Given the description of an element on the screen output the (x, y) to click on. 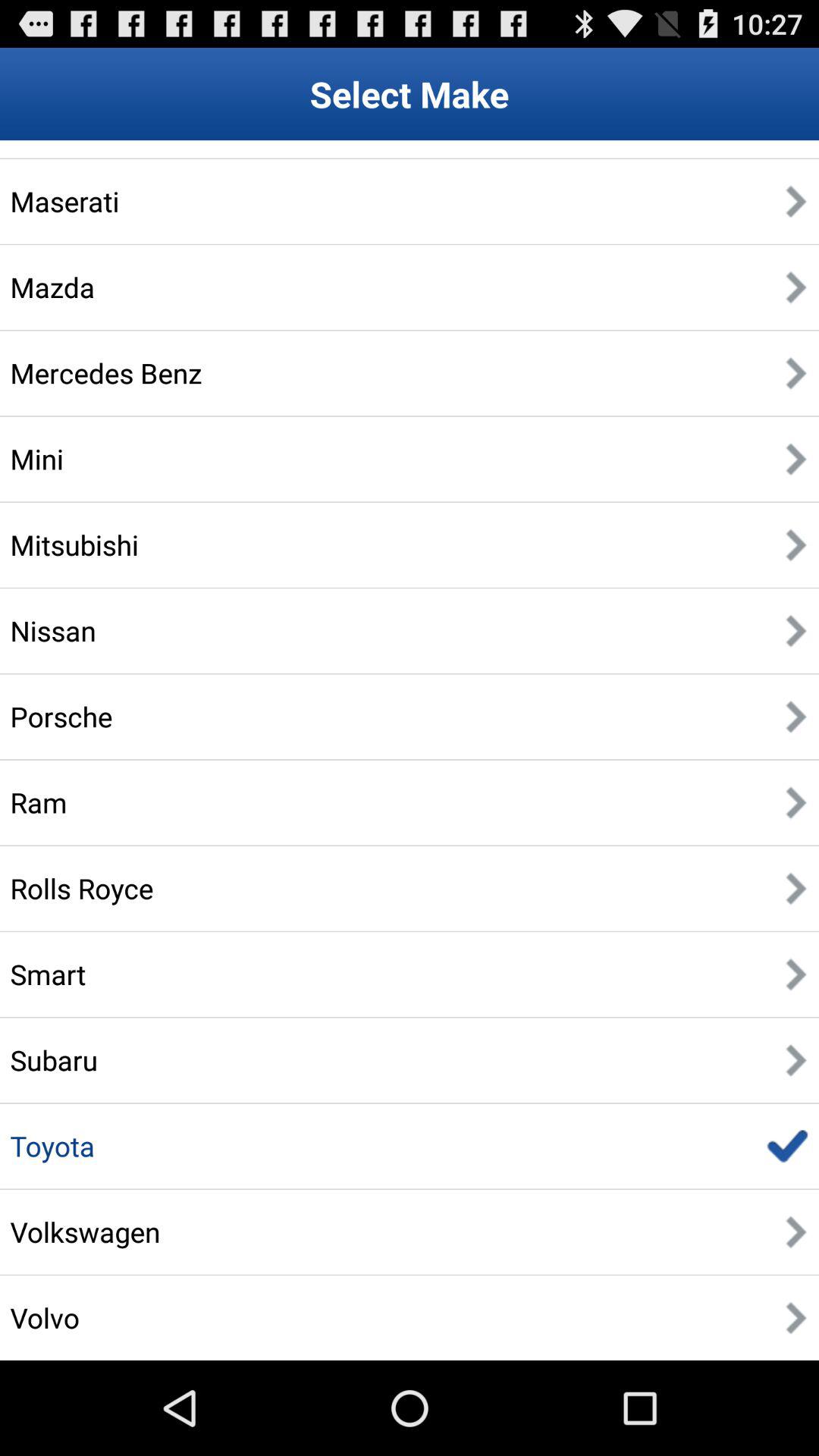
choose the item below mercedes benz icon (36, 458)
